Given the description of an element on the screen output the (x, y) to click on. 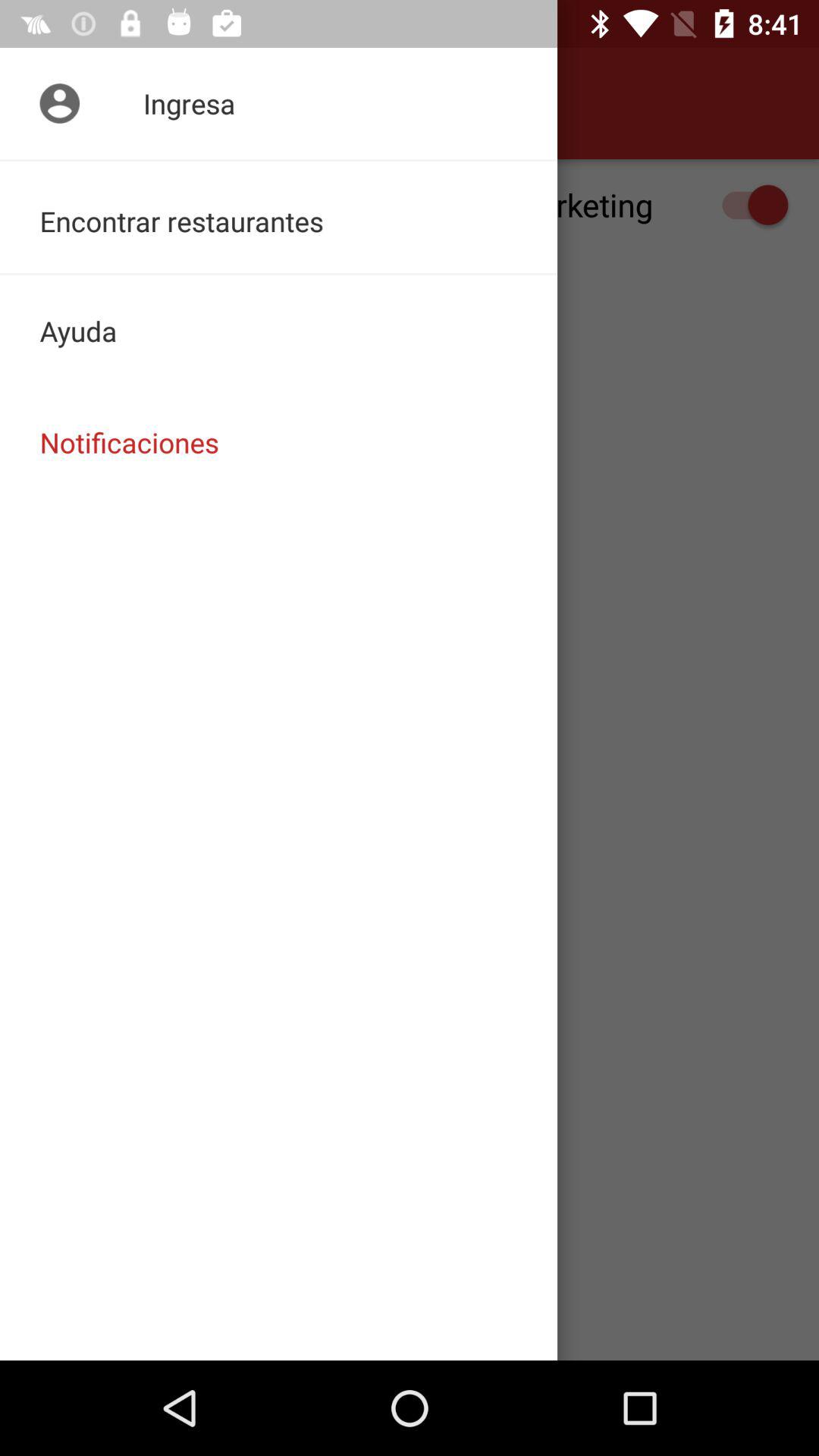
swipe to the ingresa icon (278, 103)
